Given the description of an element on the screen output the (x, y) to click on. 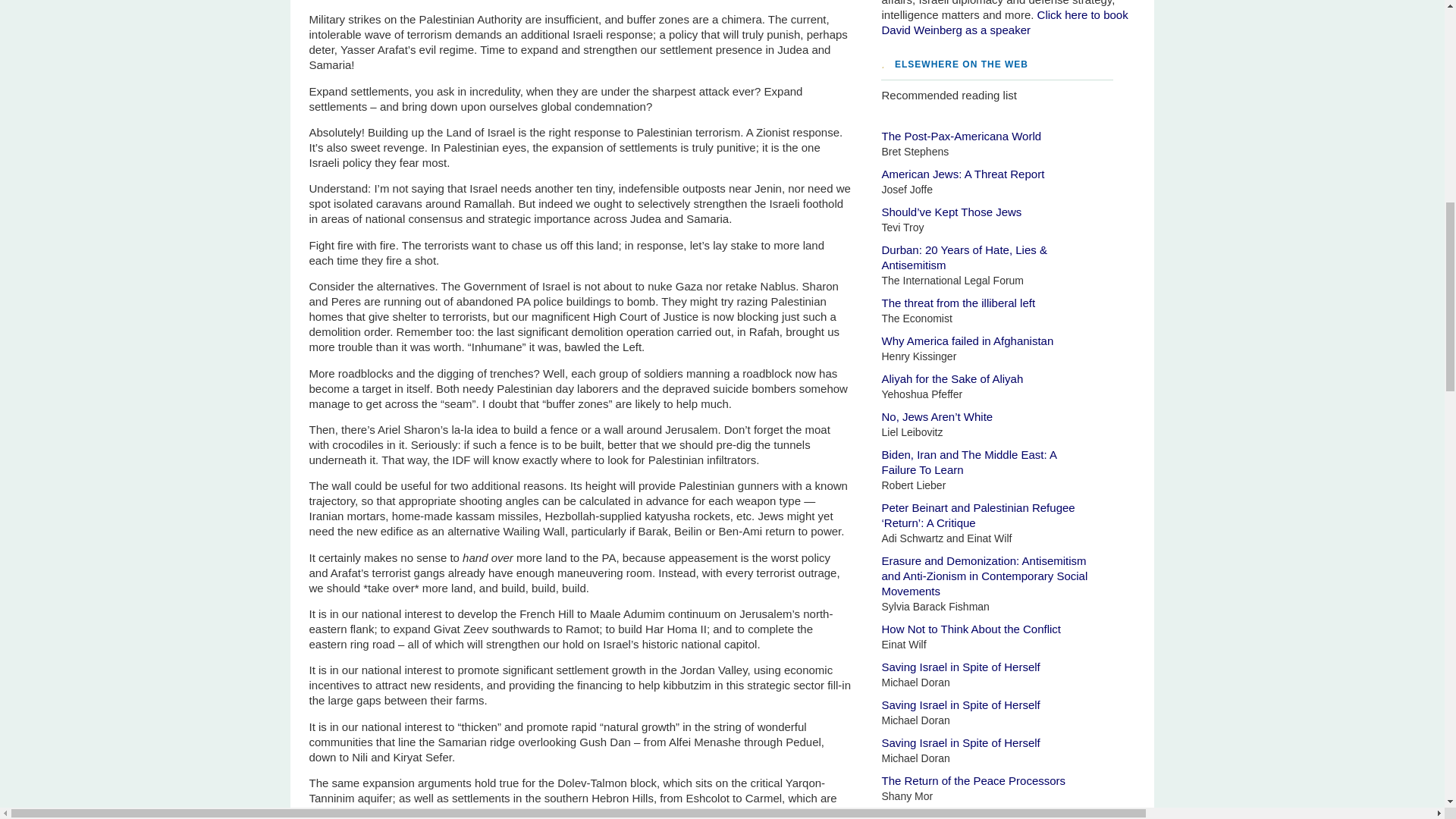
Click here to book David Weinberg as a speaker (1009, 178)
